Given the description of an element on the screen output the (x, y) to click on. 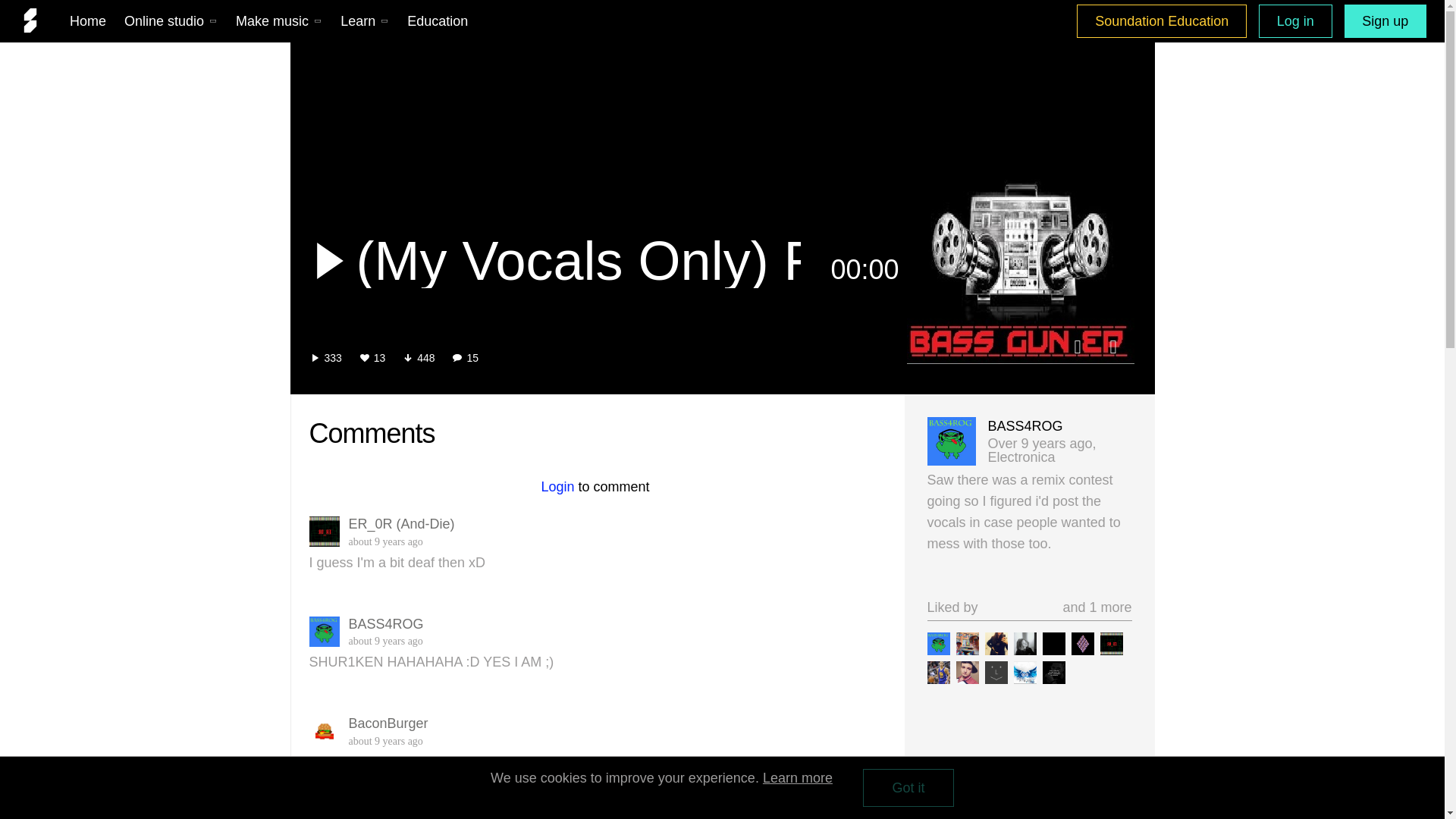
Lil JR 999 (1053, 671)
Lynxed (1081, 643)
Home (88, 20)
Online studio (171, 20)
BASS4ROG (937, 643)
DUTCH (966, 643)
INFINTERY (1024, 671)
Felix100 (995, 671)
paulinaomel (995, 643)
Trevon2314 (937, 671)
